Given the description of an element on the screen output the (x, y) to click on. 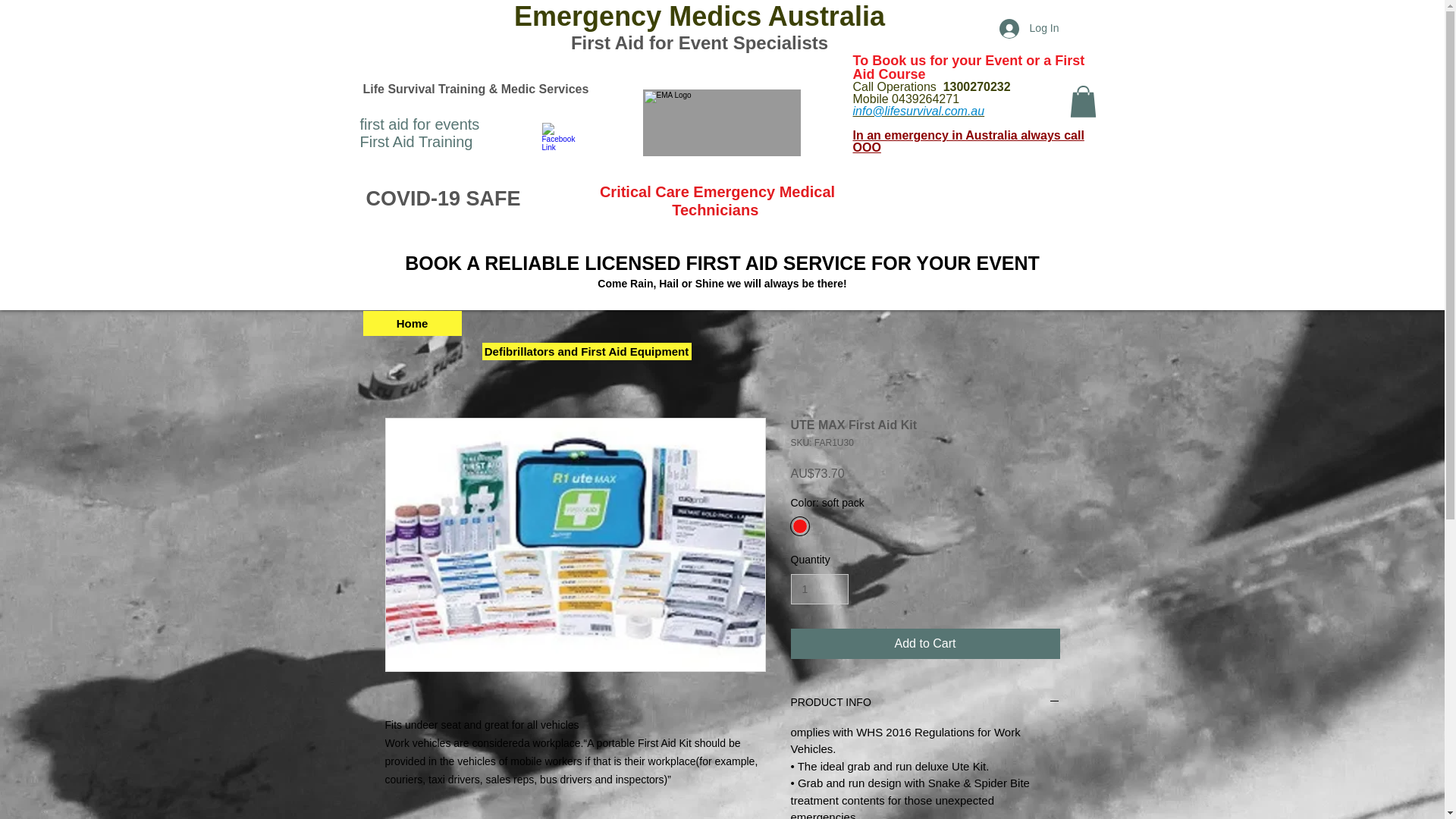
Add to Cart (924, 643)
PRODUCT INFO (924, 703)
Log In (1029, 28)
Home (411, 323)
1 (818, 589)
Defibrillators and First Aid Equipment (586, 351)
Emergency Medics Australia (699, 15)
First Aid for Event Specialists (699, 42)
